Given the description of an element on the screen output the (x, y) to click on. 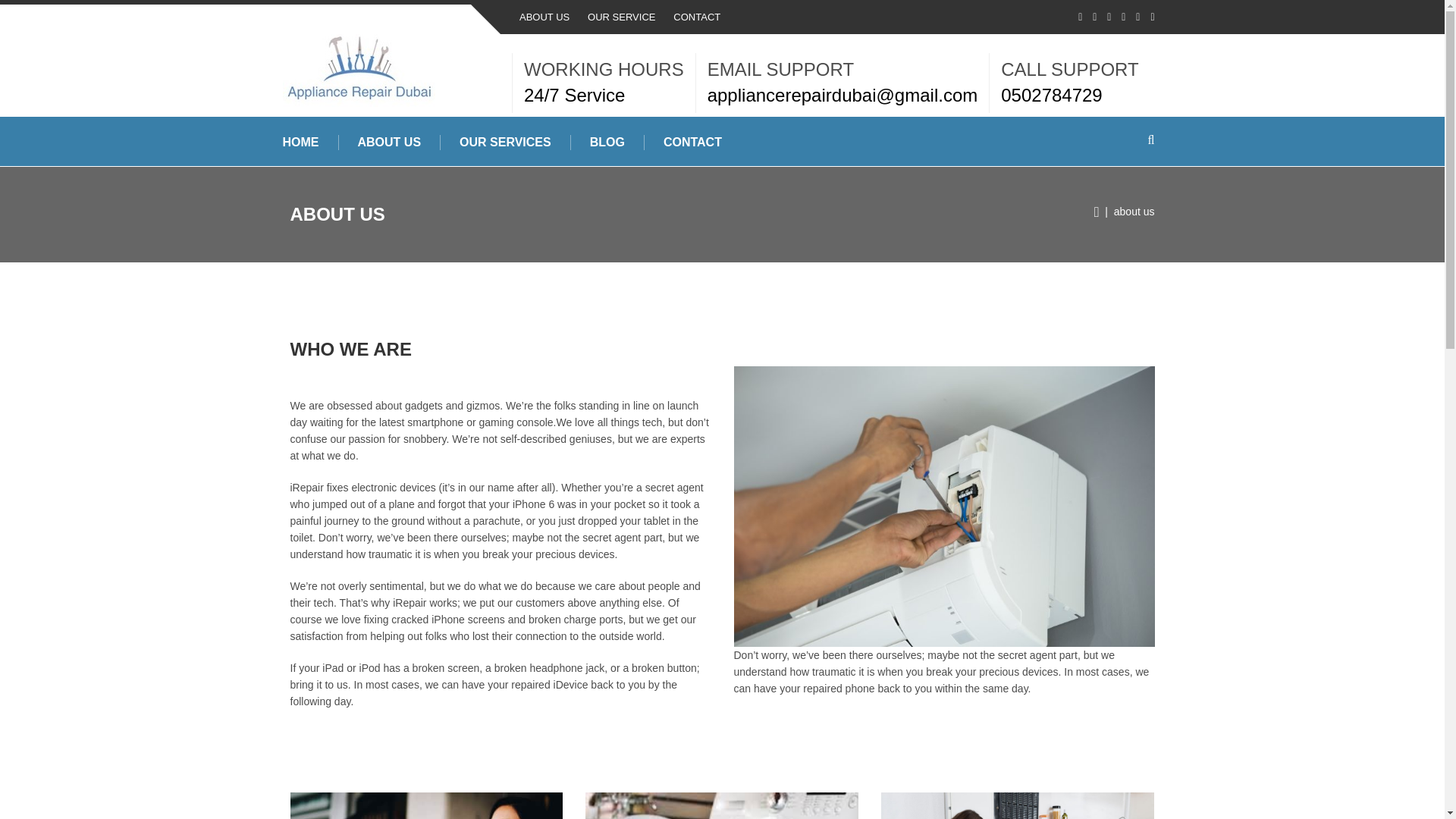
Appliance Repair Dubai (357, 69)
OUR SERVICE (621, 16)
ABOUT US (544, 16)
HOME (301, 142)
BLOG (607, 142)
ABOUT US (389, 142)
OUR SERVICES (505, 142)
CONTACT (693, 142)
CONTACT (696, 16)
